Given the description of an element on the screen output the (x, y) to click on. 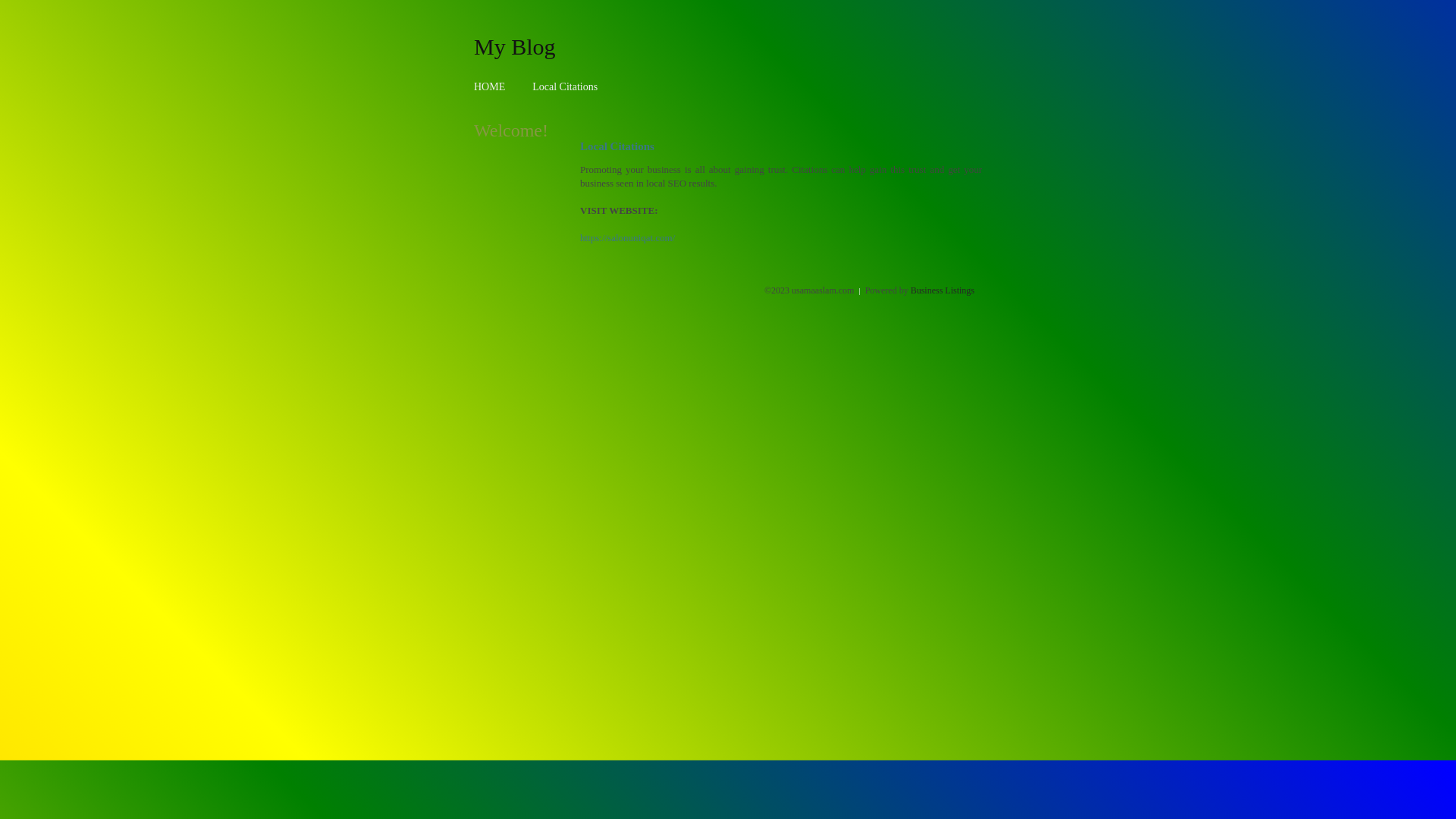
Local Citations Element type: text (564, 86)
My Blog Element type: text (514, 46)
HOME Element type: text (489, 86)
https://salonuniqat.com/ Element type: text (627, 237)
Business Listings Element type: text (942, 290)
